Given the description of an element on the screen output the (x, y) to click on. 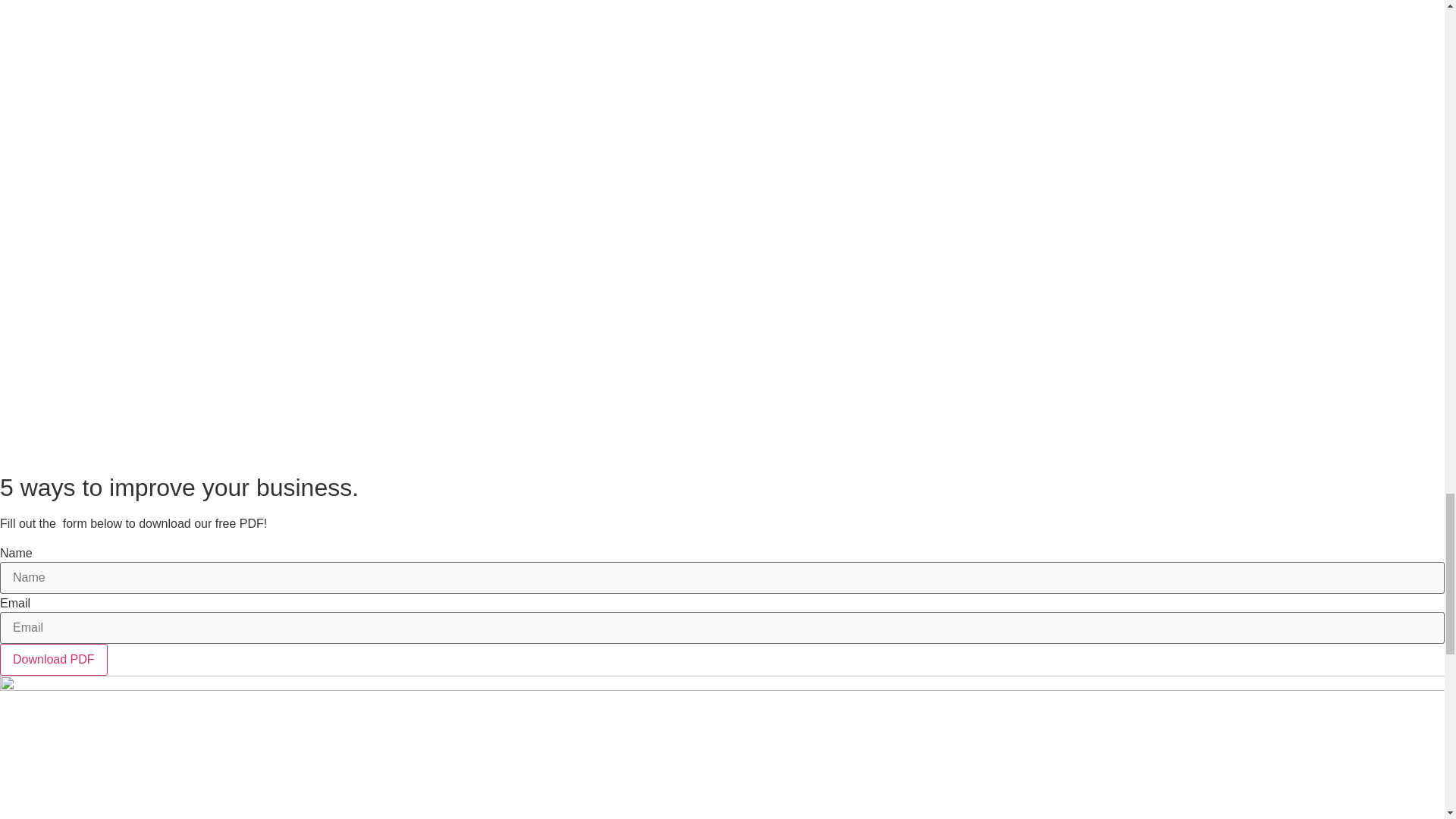
Download PDF (53, 659)
